Given the description of an element on the screen output the (x, y) to click on. 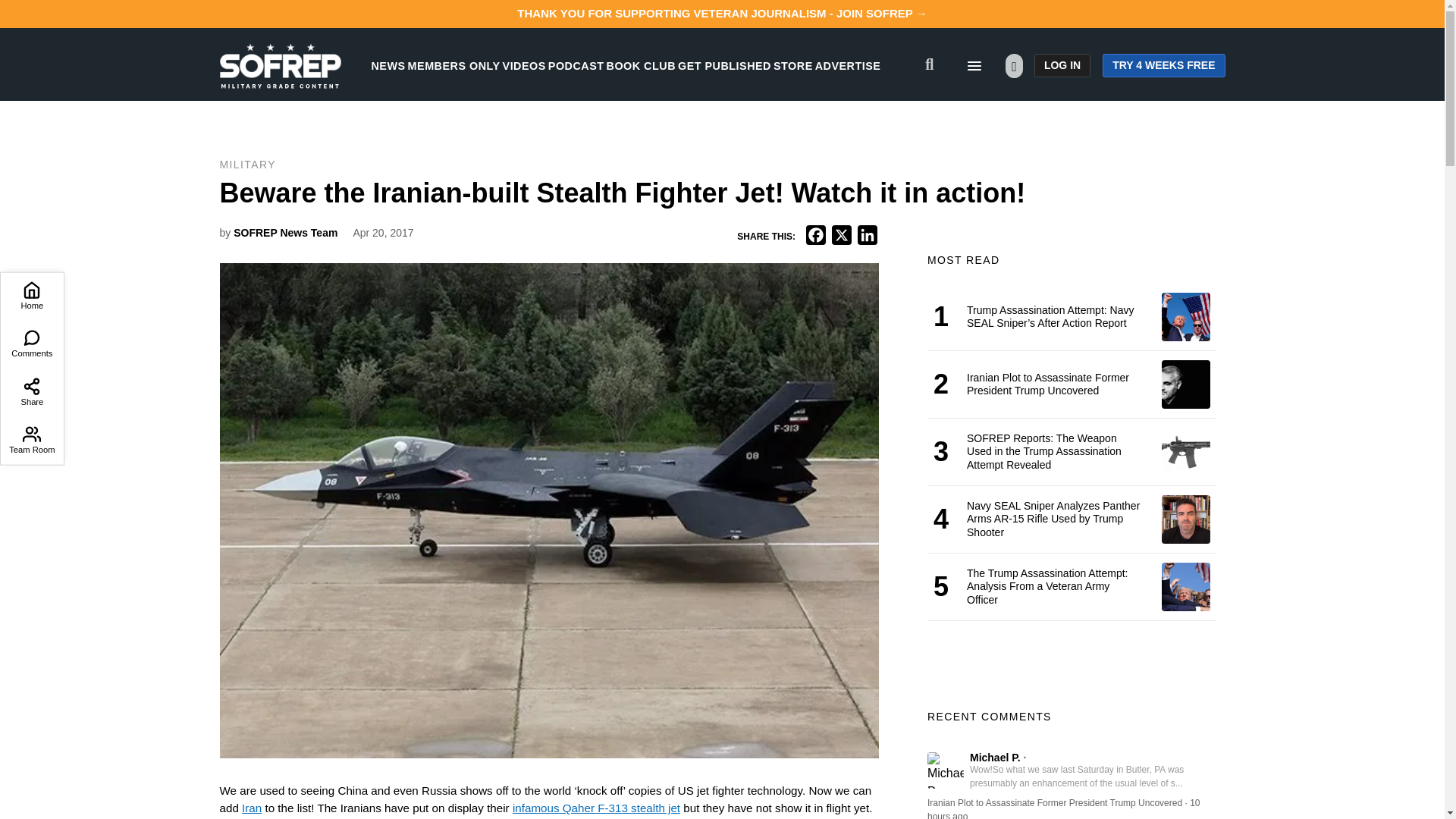
LOG IN (1061, 65)
TRY 4 WEEKS FREE (1163, 65)
BOOK CLUB (641, 65)
NEWS (388, 65)
VIDEOS (524, 65)
ADVERTISE (847, 65)
MEMBERS ONLY (453, 65)
PODCAST (576, 65)
GET PUBLISHED (724, 65)
STORE (792, 65)
